Given the description of an element on the screen output the (x, y) to click on. 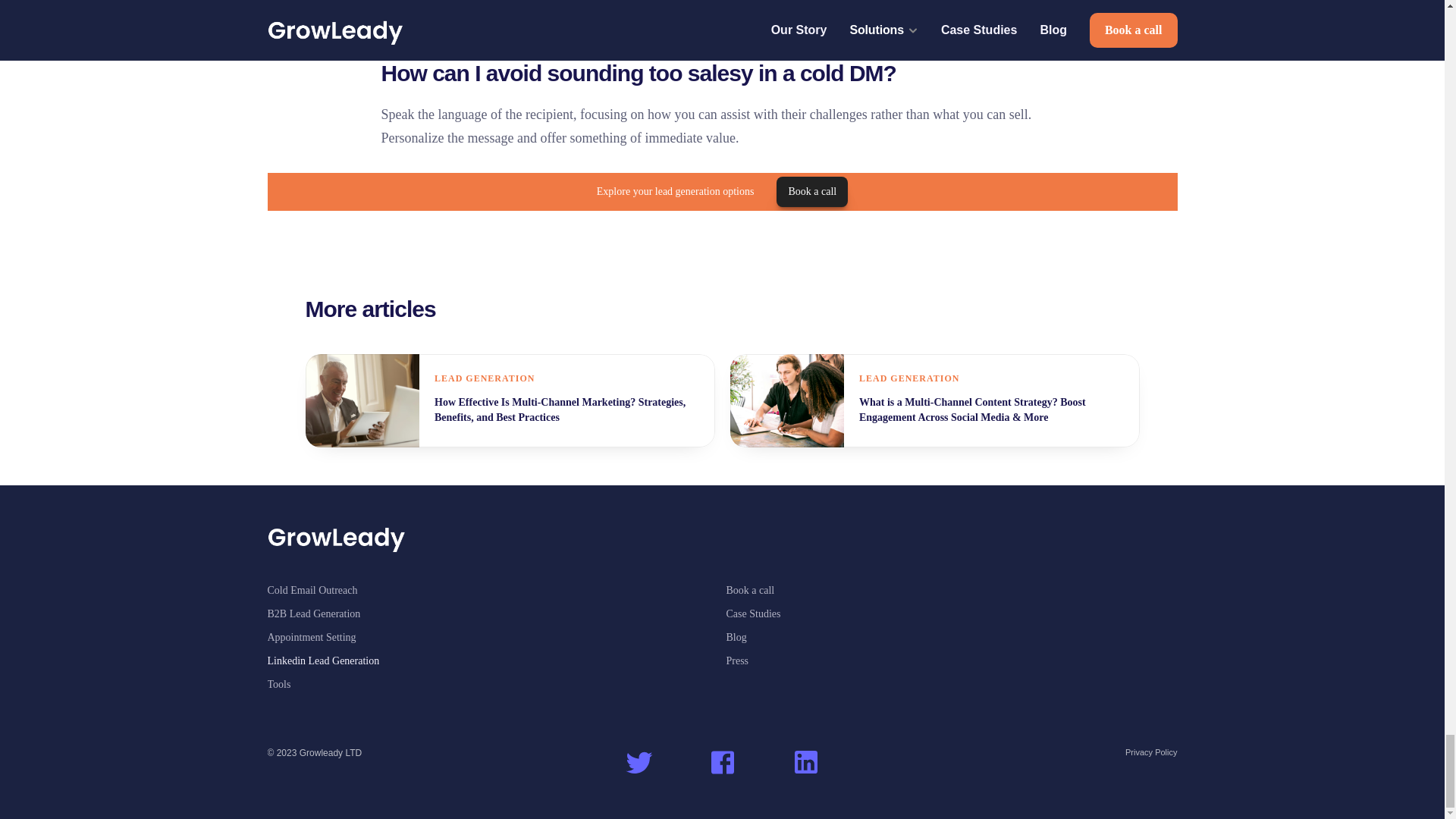
Cold Email Outreach (311, 590)
Press (737, 660)
Case Studies (753, 613)
B2B Lead Generation (312, 613)
Tools (277, 684)
Book a call (811, 191)
Privacy Policy (1150, 751)
Book a call (750, 590)
Appointment Setting (310, 636)
